Given the description of an element on the screen output the (x, y) to click on. 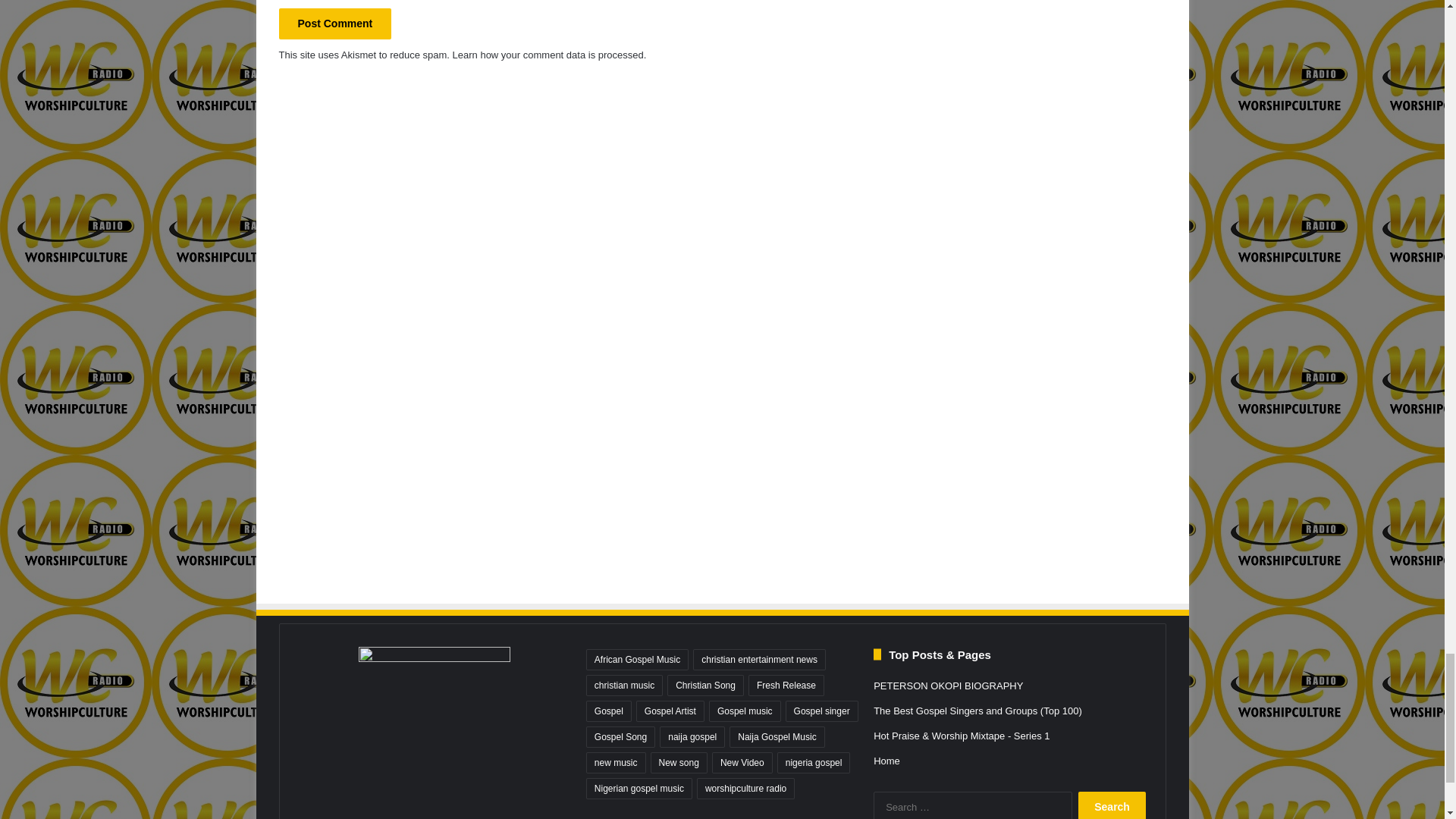
Search (1112, 805)
Search (1112, 805)
Post Comment (335, 23)
